Given the description of an element on the screen output the (x, y) to click on. 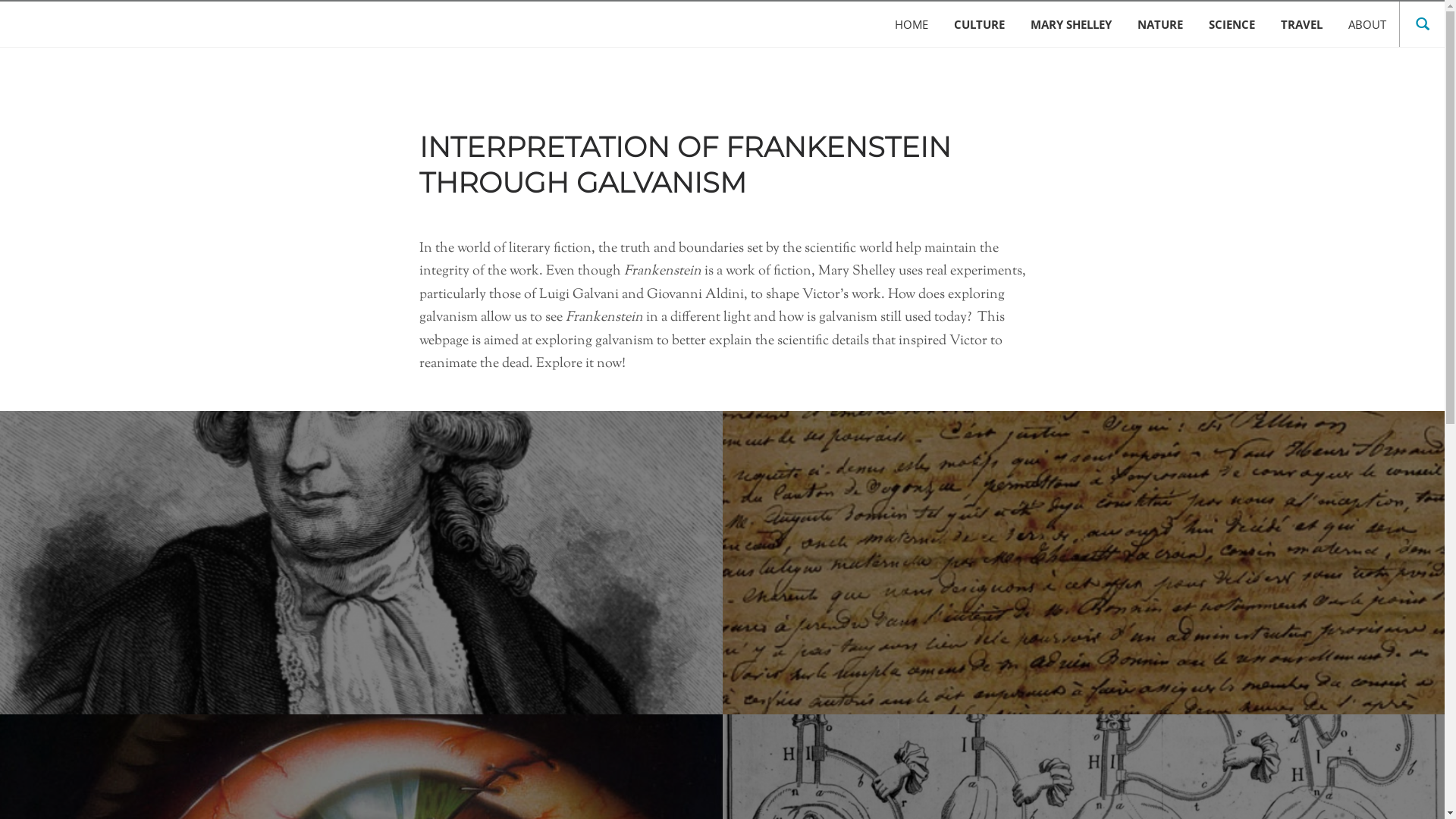
SCIENCE Element type: text (1231, 24)
NATURE Element type: text (1159, 24)
CULTURE Element type: text (979, 24)
MARY SHELLEY Element type: text (1070, 24)
ABOUT Element type: text (1367, 24)
TRAVEL Element type: text (1301, 24)
HOME Element type: text (911, 24)
